Given the description of an element on the screen output the (x, y) to click on. 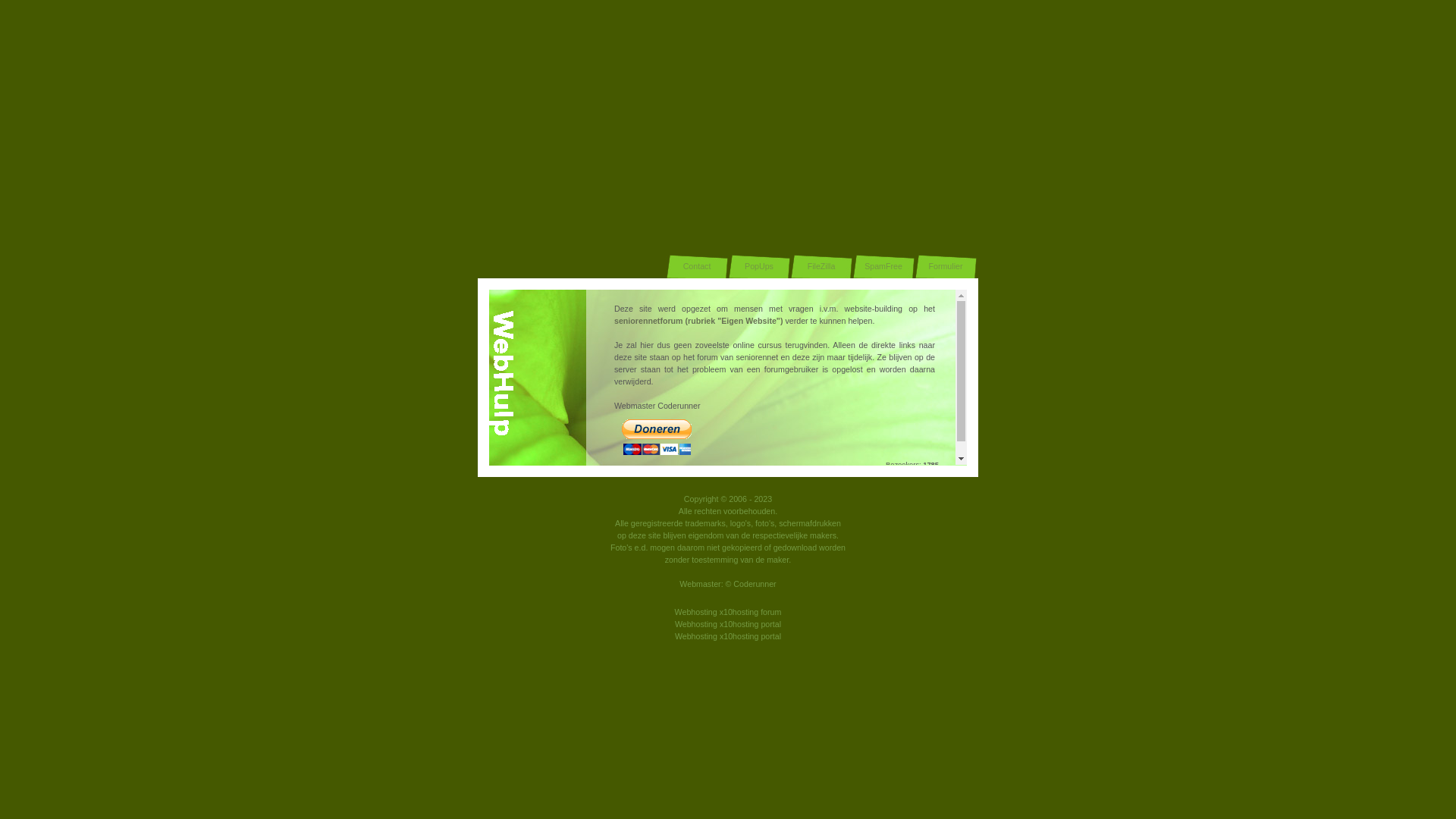
seniorennetforum (rubriek "Eigen Website") Element type: text (698, 320)
Webhosting x10hosting portal Element type: text (727, 635)
Contact Element type: text (696, 266)
Webhosting x10hosting forum Element type: text (727, 611)
FileZilla Element type: text (821, 266)
1785 Element type: text (930, 463)
Formulier Element type: text (945, 266)
SpamFree Element type: text (883, 266)
Webhosting x10hosting portal Element type: text (727, 623)
PopUps Element type: text (759, 266)
Klik hier om de box af te sluiten. Element type: text (727, 519)
